Given the description of an element on the screen output the (x, y) to click on. 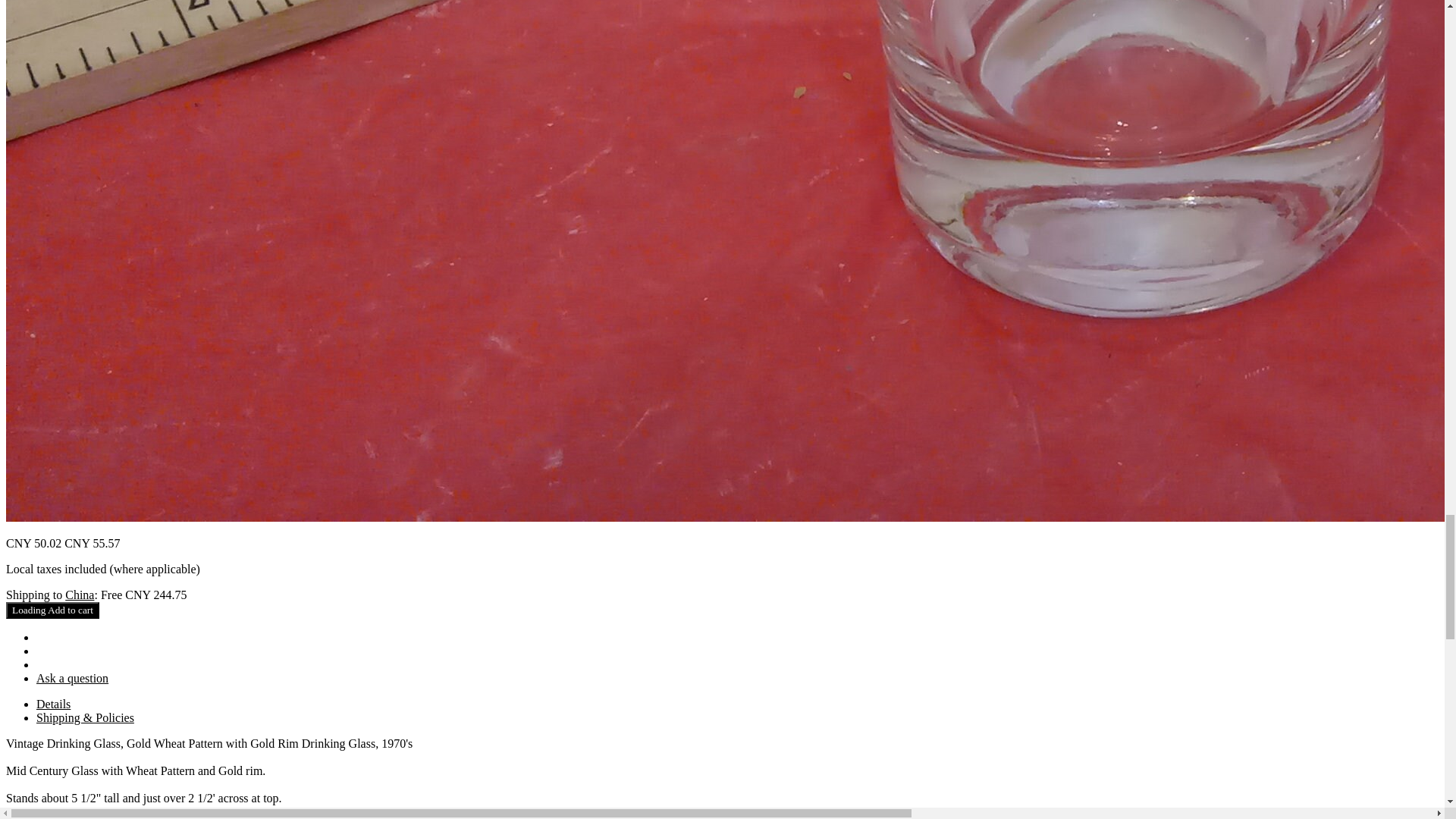
Loading Add to cart (52, 610)
Ask a question (71, 677)
Details (52, 703)
China (79, 594)
